Given the description of an element on the screen output the (x, y) to click on. 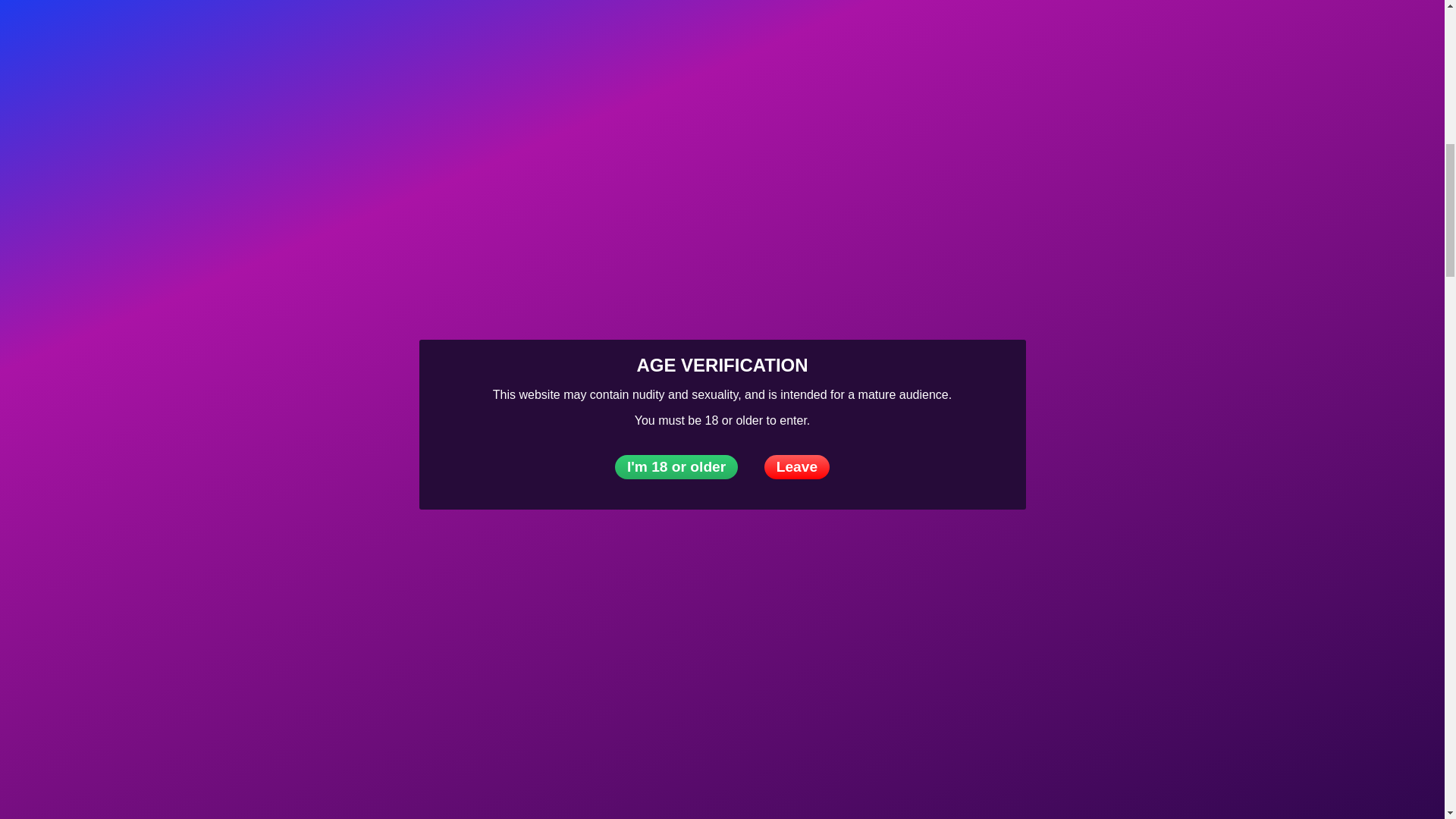
Submit Comment (721, 451)
Search (1349, 543)
Submit Comment (721, 451)
Escort Athens (296, 166)
